Given the description of an element on the screen output the (x, y) to click on. 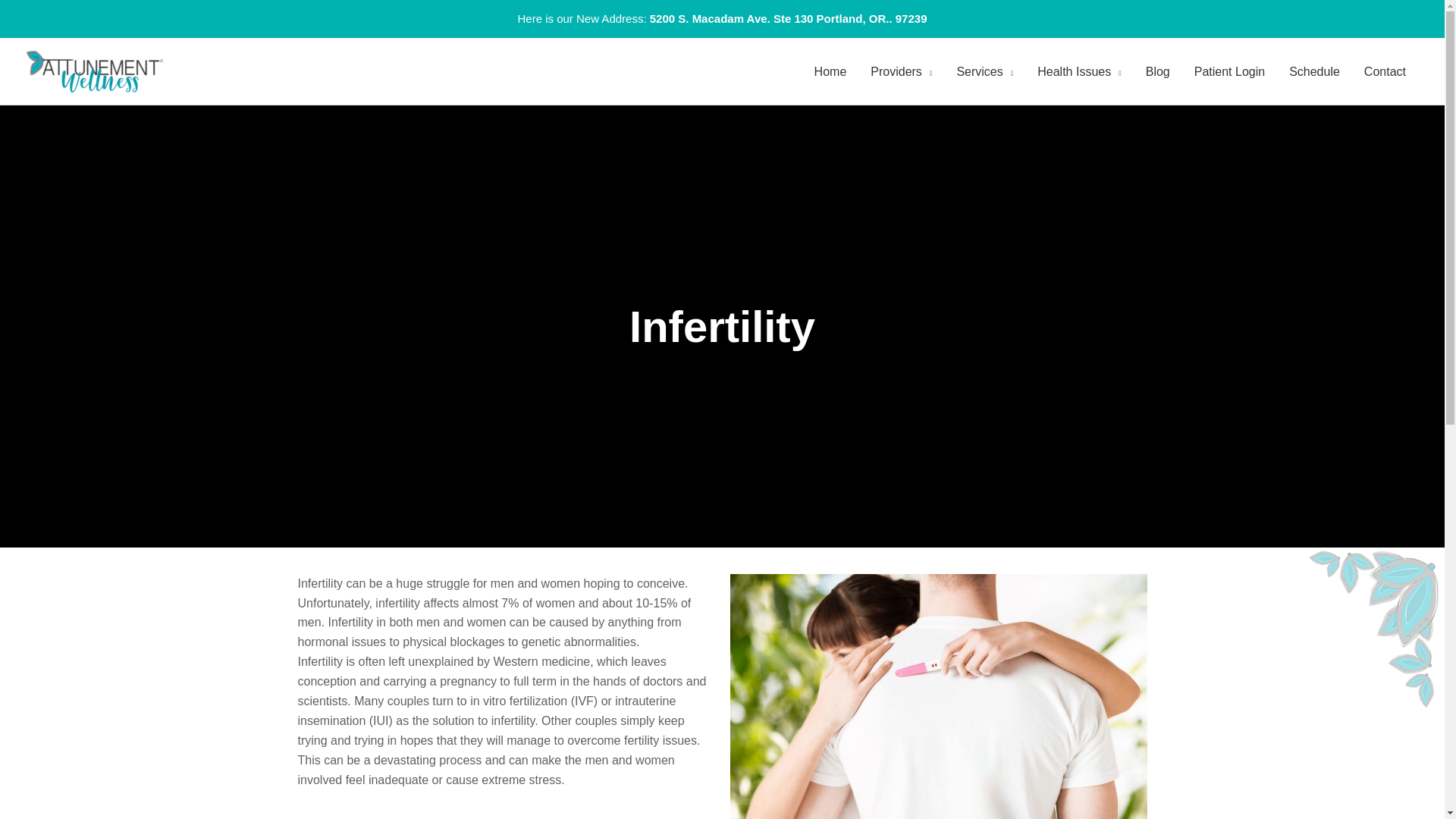
Patient Login (1229, 71)
Health Issues (1078, 71)
Providers (901, 71)
Services (984, 71)
Home (830, 71)
Schedule (1314, 71)
Contact (1385, 71)
Blog (1158, 71)
